Given the description of an element on the screen output the (x, y) to click on. 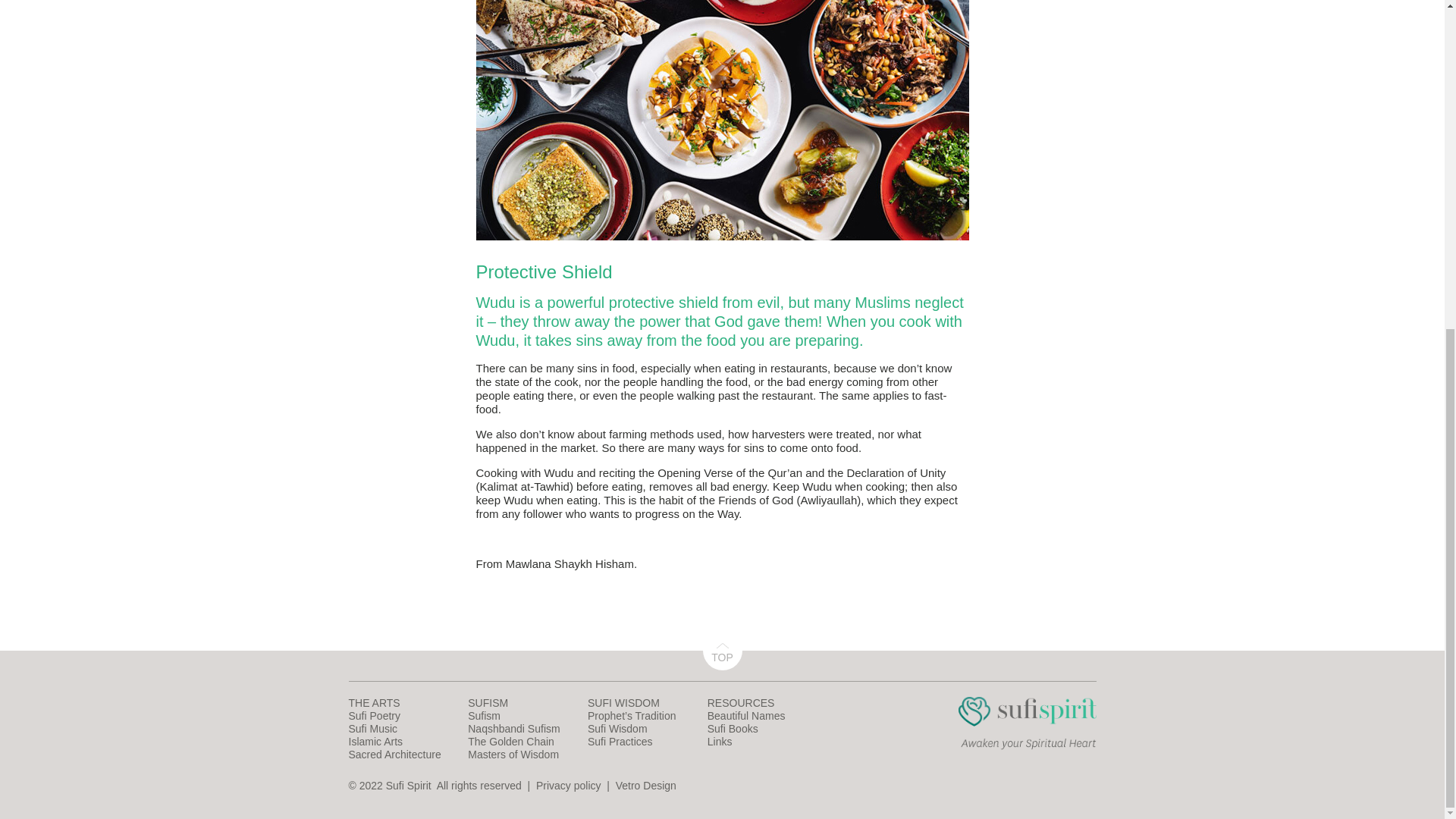
Sufi Music (373, 728)
Sufi Spirit (1027, 746)
TOP (721, 650)
Sufi Poetry (374, 715)
